Given the description of an element on the screen output the (x, y) to click on. 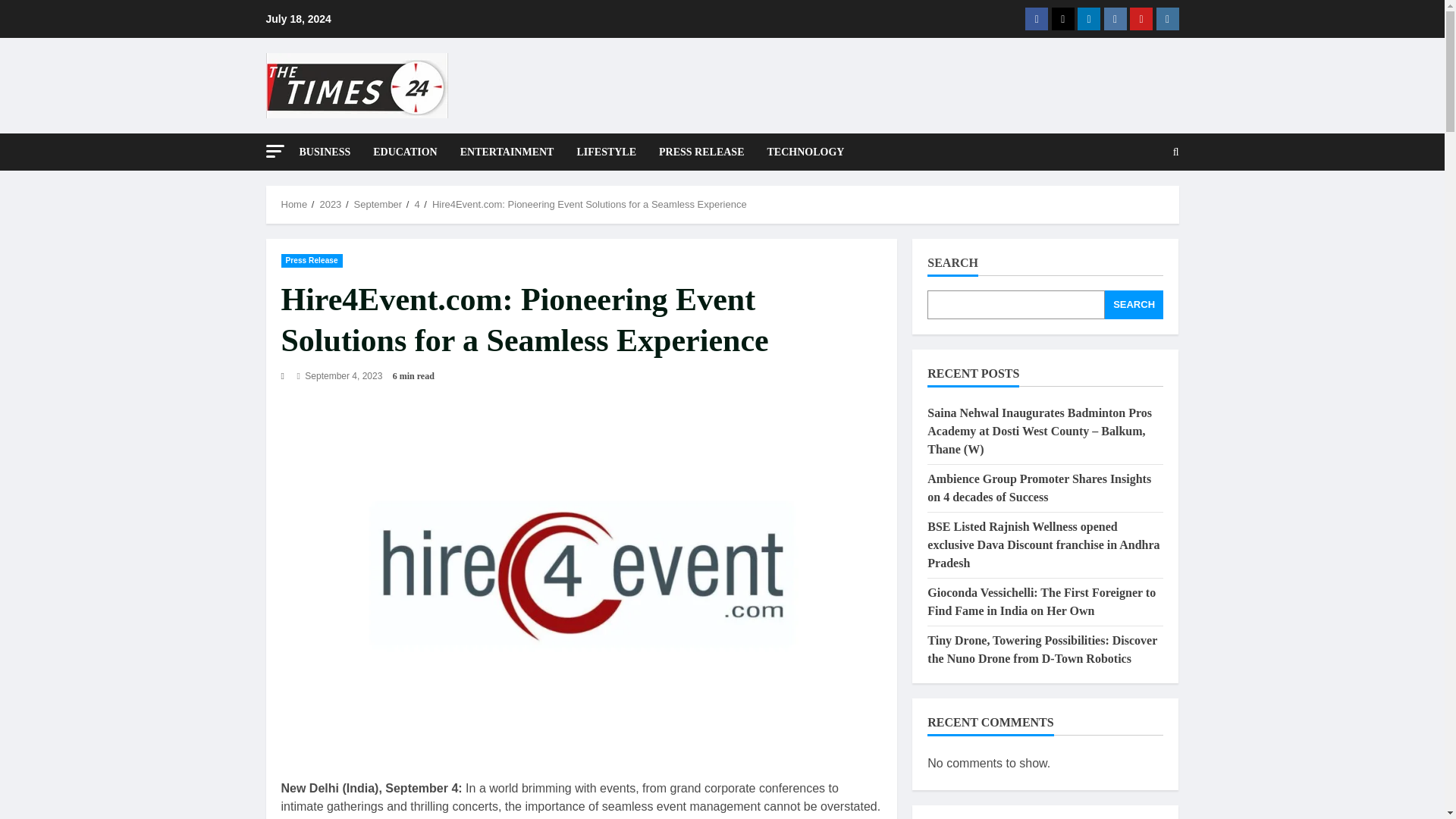
Instagram (1166, 18)
Facebook (1036, 18)
Twitter (1062, 18)
Linkedin (1088, 18)
Youtube (1141, 18)
VK (1114, 18)
